Given the description of an element on the screen output the (x, y) to click on. 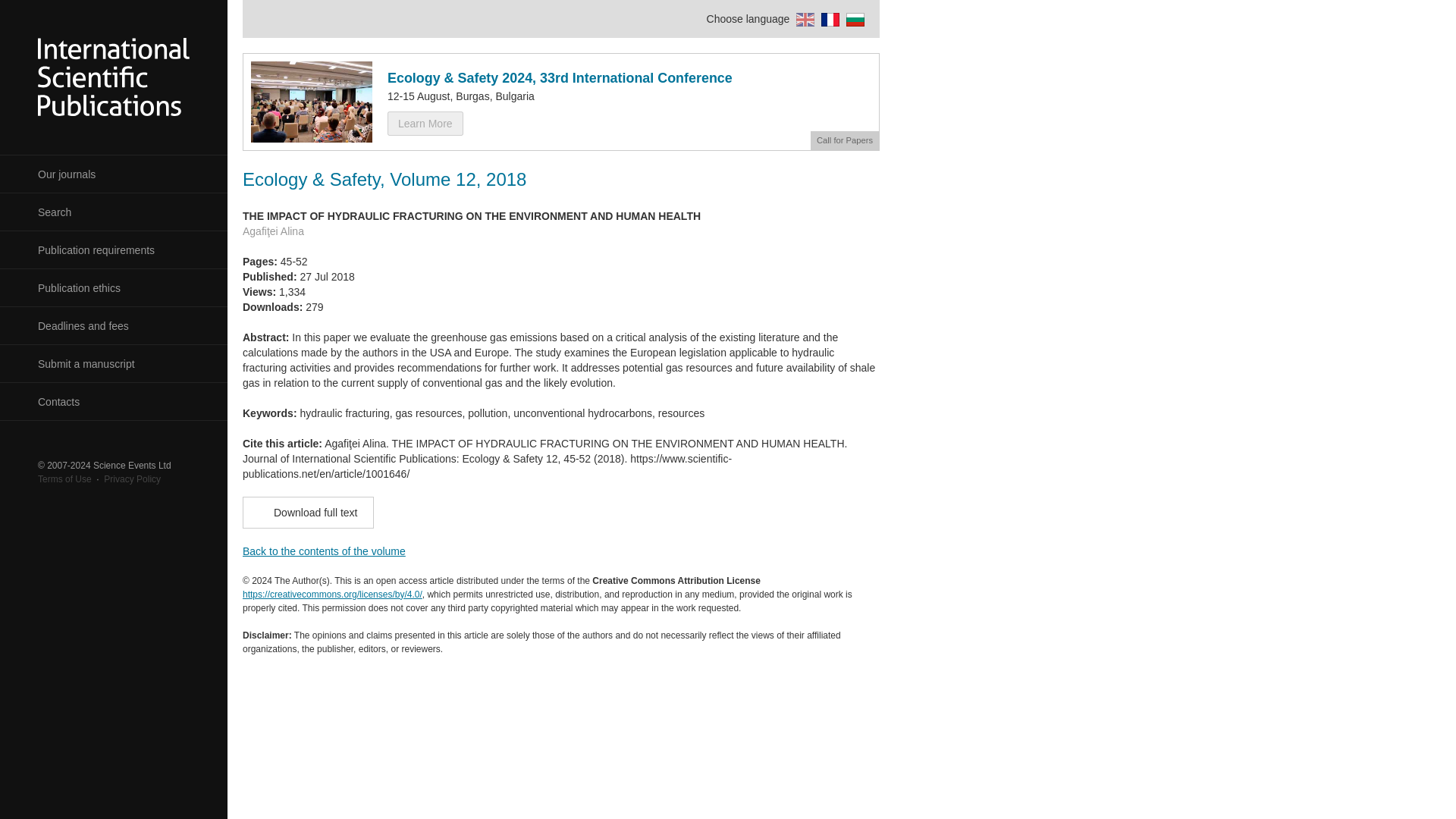
Download full text (308, 512)
Terms of Use (64, 479)
Publication ethics (113, 288)
English (802, 19)
Bulgarian (853, 19)
Learn More (425, 123)
Deadlines and fees (113, 325)
Privacy Policy (131, 479)
Our journals (113, 174)
French (828, 19)
